Given the description of an element on the screen output the (x, y) to click on. 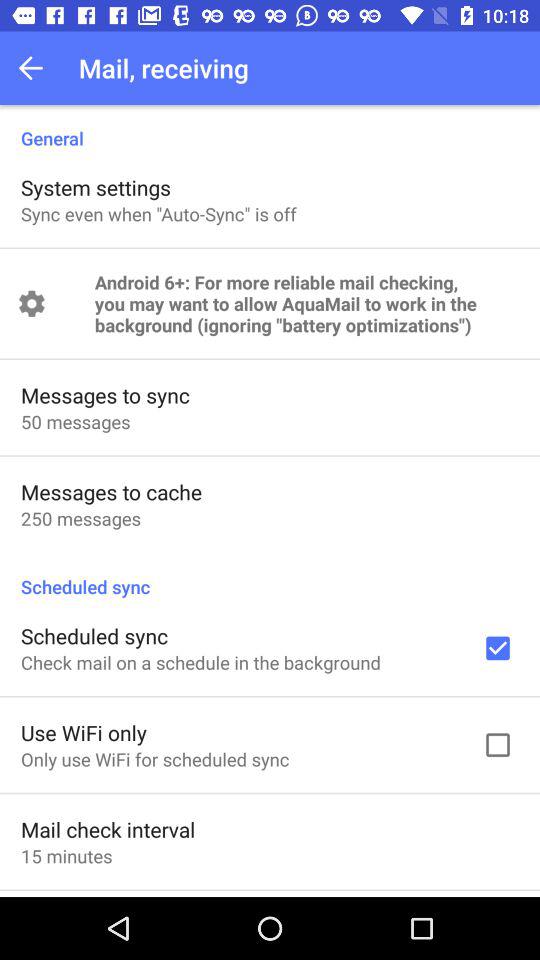
choose the app below messages to sync (75, 421)
